Given the description of an element on the screen output the (x, y) to click on. 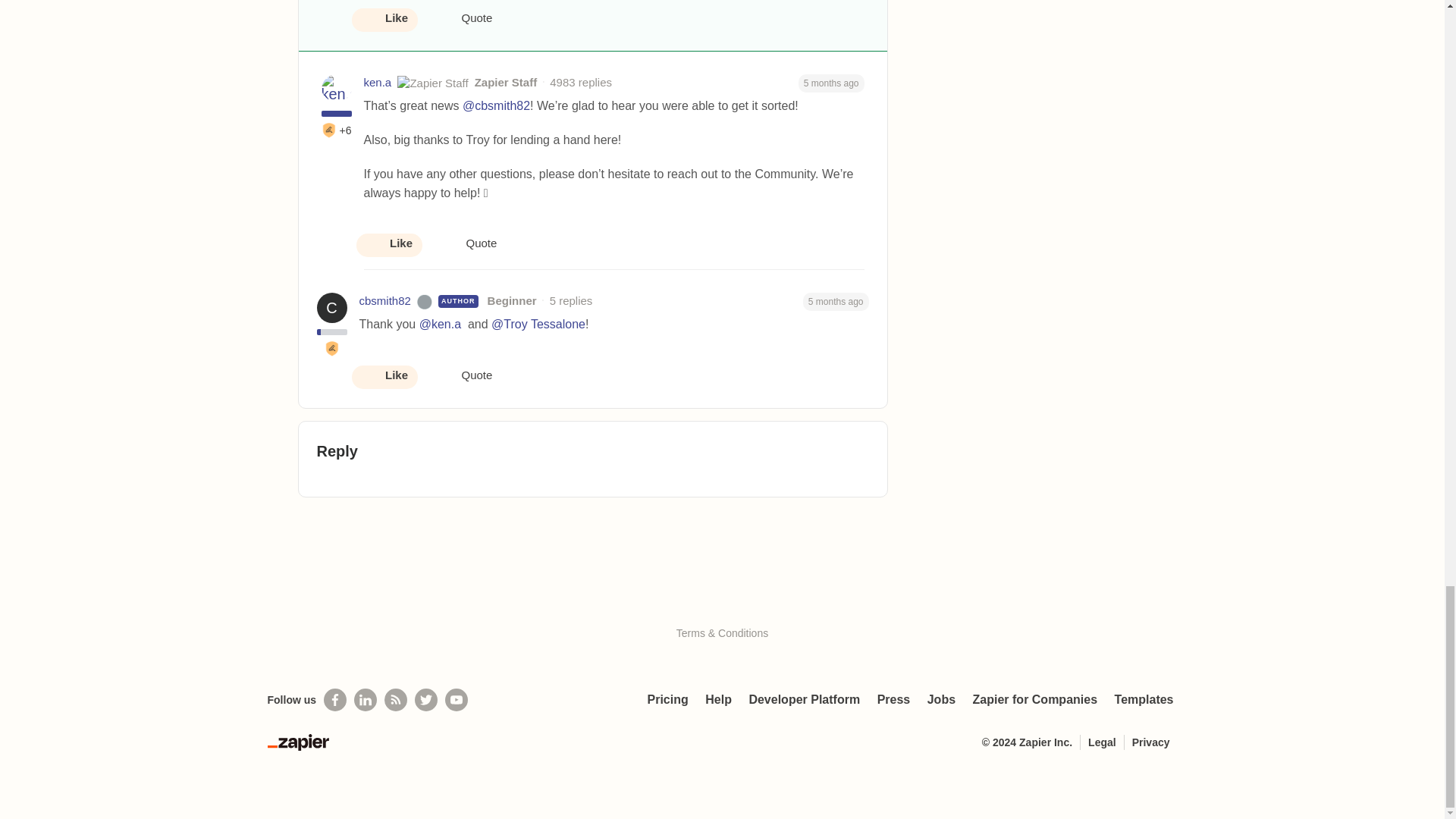
cbsmith82 (384, 301)
ken.a (377, 82)
First Best Answer (328, 130)
First Best Answer (331, 348)
